Given the description of an element on the screen output the (x, y) to click on. 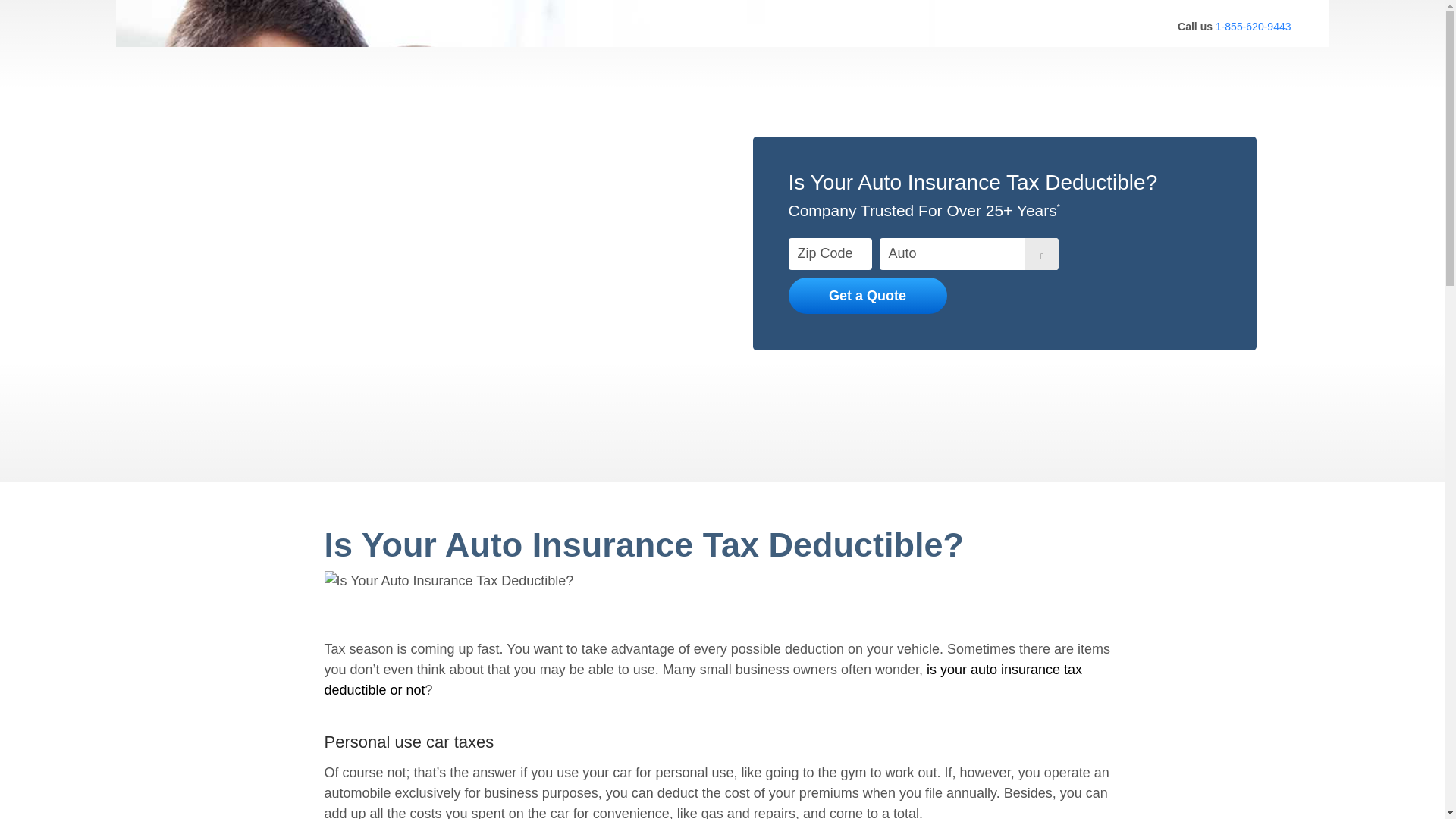
is your auto insurance tax deductible or not (703, 678)
Zip Code (830, 254)
Get a Quote (868, 295)
1-855-620-9443 (1253, 26)
Get a Quote (868, 295)
